Given the description of an element on the screen output the (x, y) to click on. 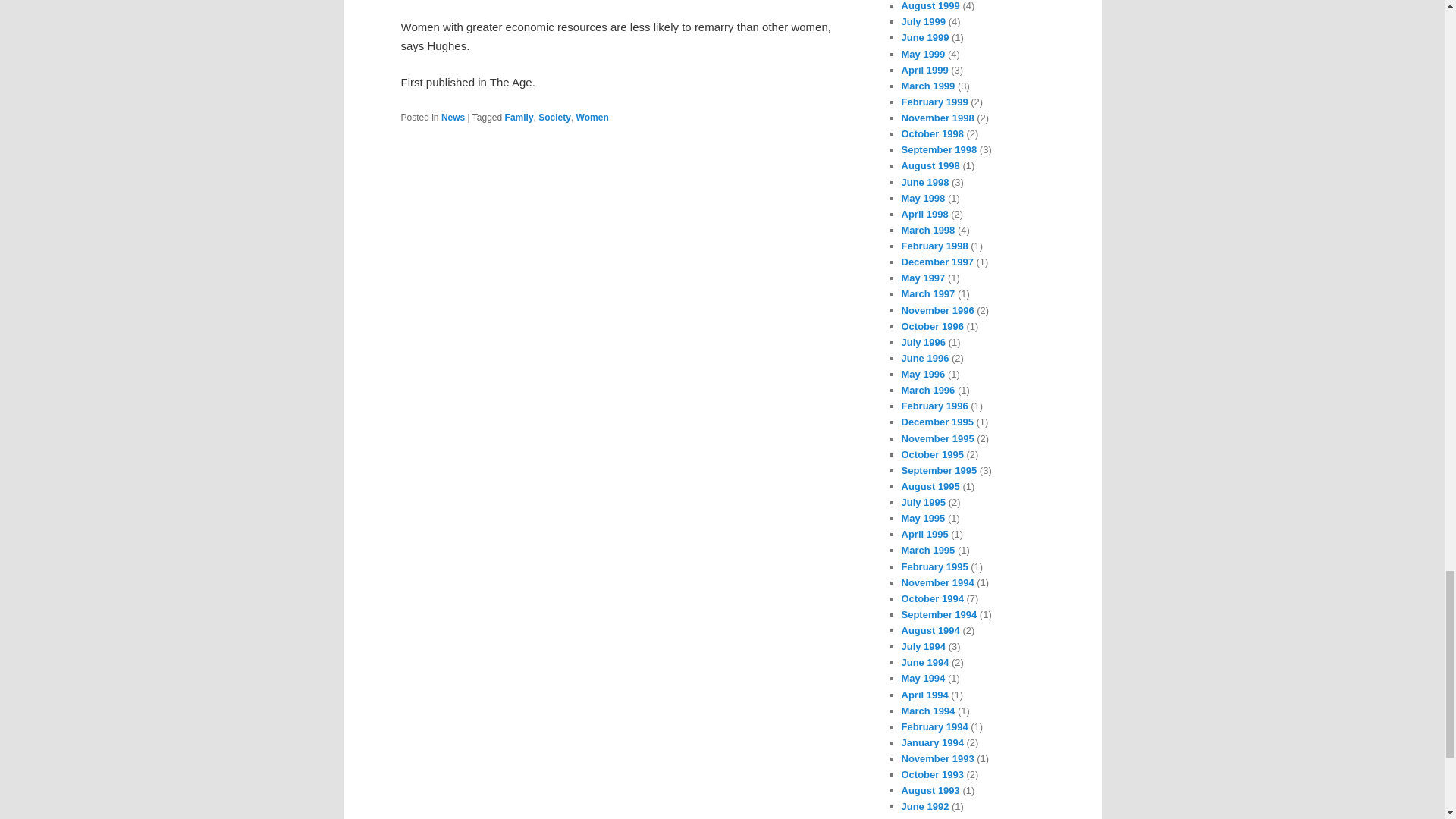
News (452, 117)
Women (592, 117)
Family (519, 117)
Society (554, 117)
